Given the description of an element on the screen output the (x, y) to click on. 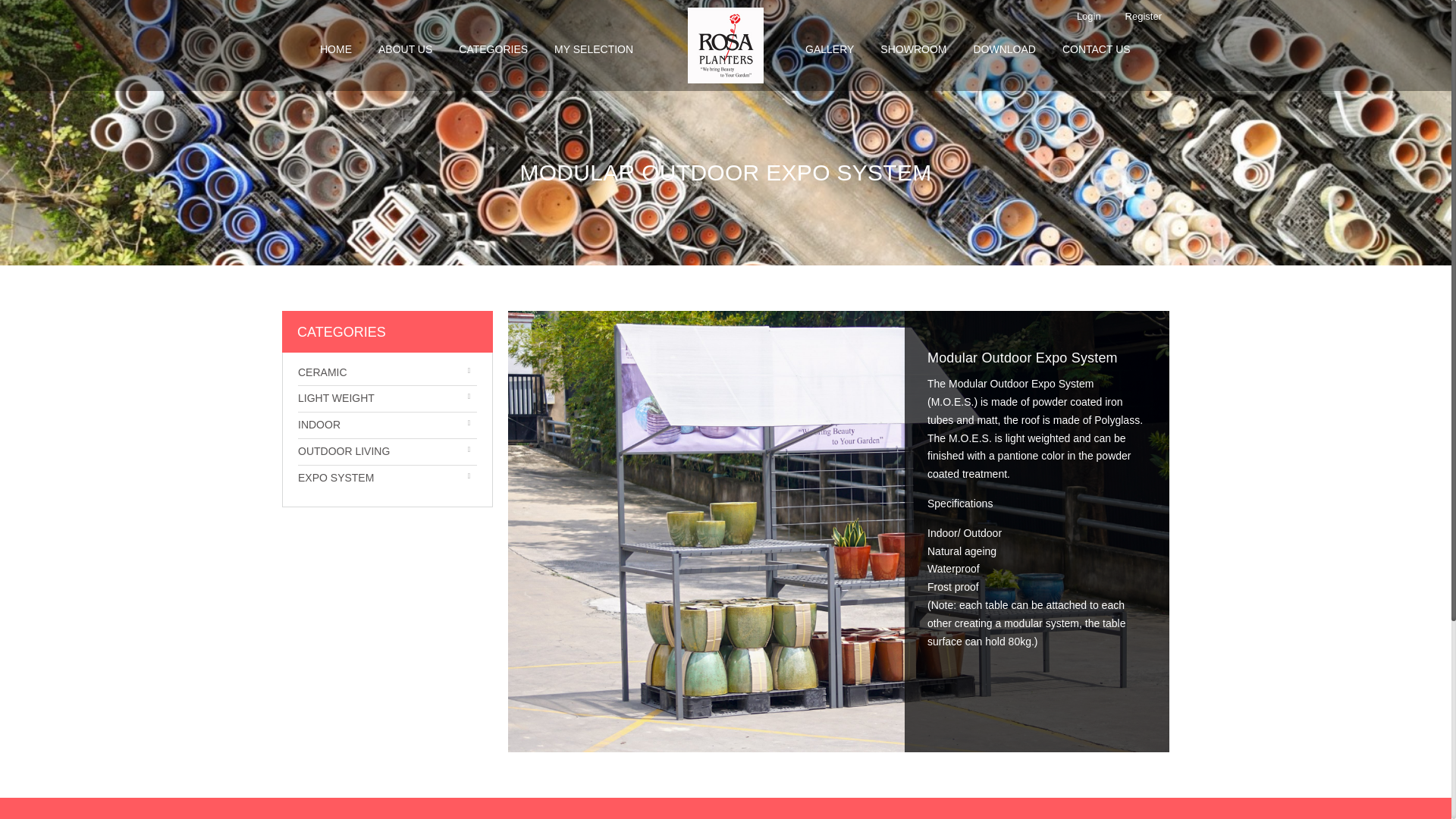
OUTDOOR LIVING (344, 451)
LIGHT WEIGHT (336, 398)
CATEGORIES (479, 49)
DOWNLOAD (1003, 48)
Register (1140, 16)
ABOUT US (392, 49)
HOME (323, 49)
INDOOR (319, 424)
EXPO SYSTEM (336, 477)
LIGHT WEIGHT (336, 398)
OUTDOOR LIVING (344, 451)
MY SELECTION (580, 49)
CERAMIC (322, 372)
SHOWROOM (912, 48)
INDOOR (319, 424)
